Given the description of an element on the screen output the (x, y) to click on. 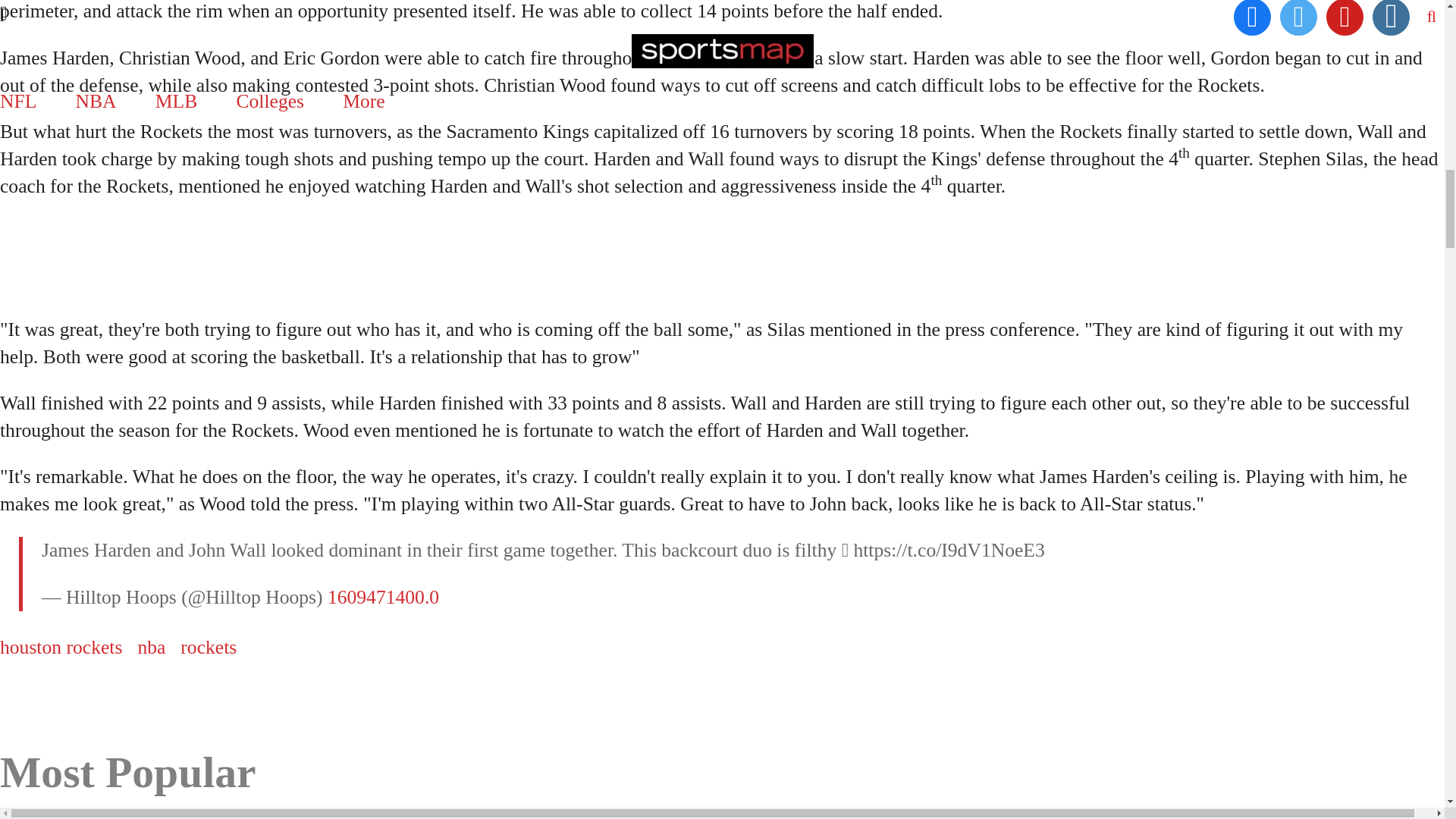
1609471400.0 (383, 597)
nba (150, 647)
rockets (207, 647)
houston rockets (61, 647)
